Given the description of an element on the screen output the (x, y) to click on. 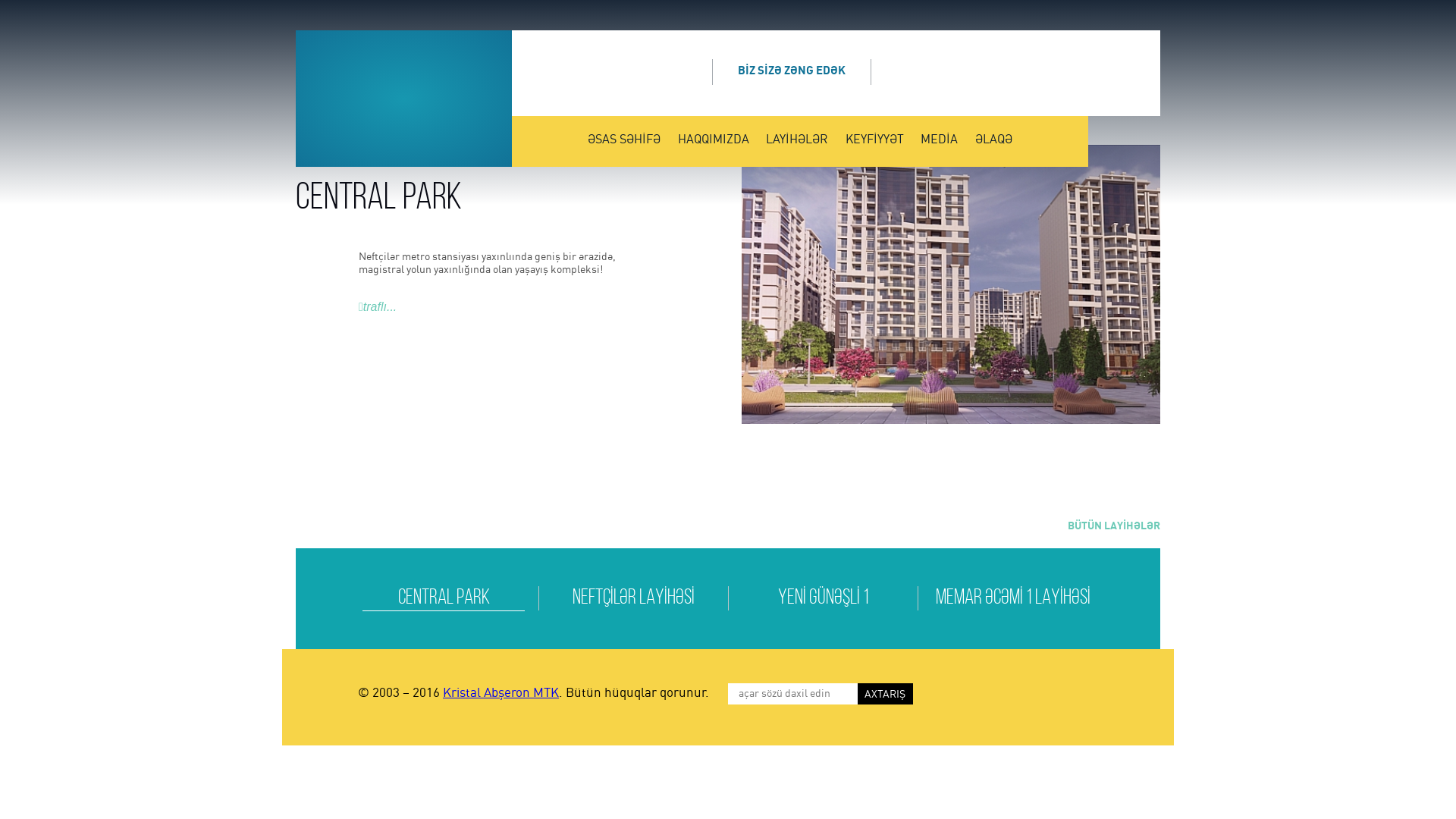
HAQQIMIZDA Element type: text (713, 140)
